Given the description of an element on the screen output the (x, y) to click on. 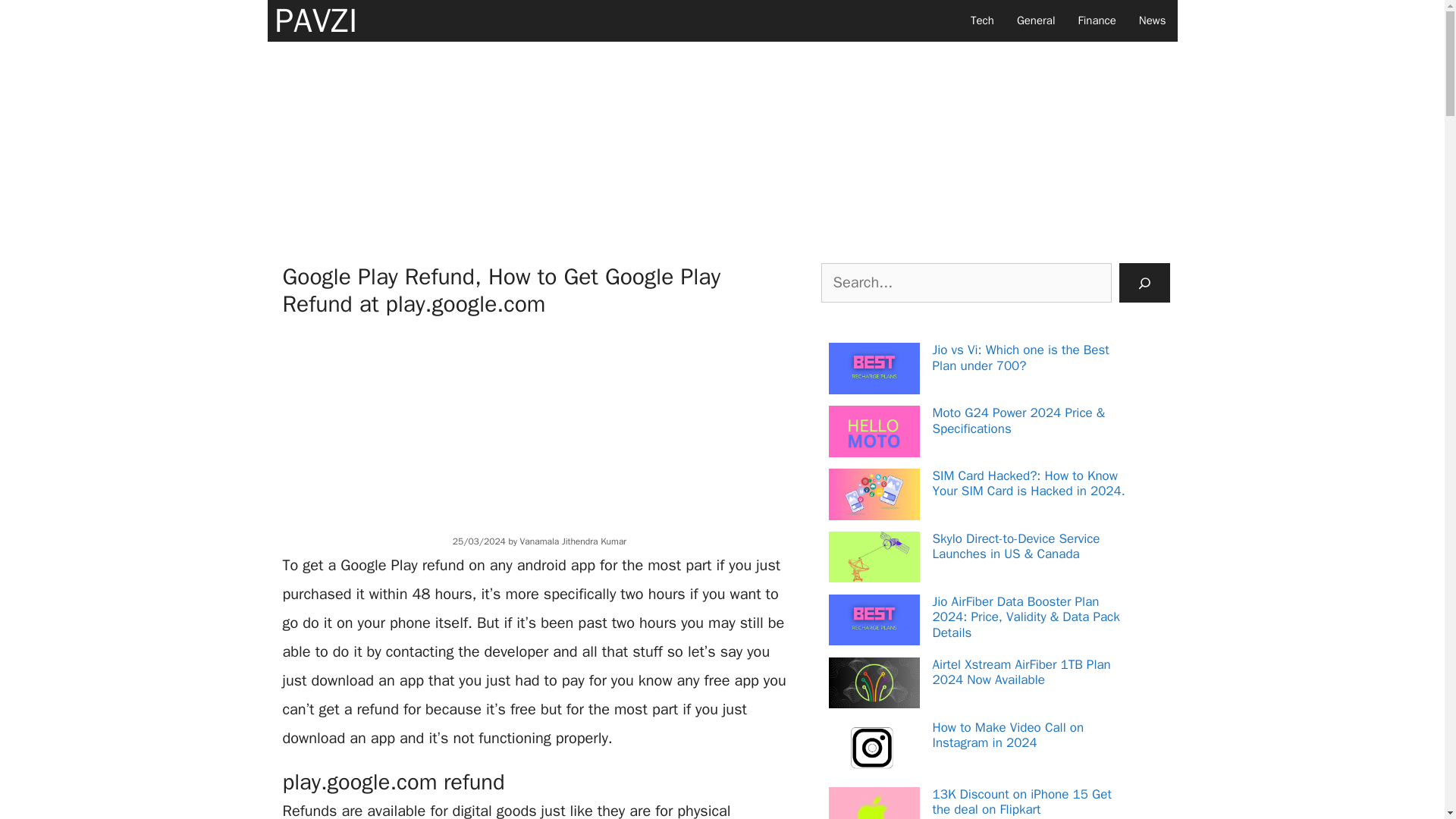
Vanamala Jithendra Kumar (573, 541)
Jio vs Vi: Which one is the Best Plan under 700? (1021, 357)
PAVZI (315, 20)
Finance (1096, 20)
Advertisement (539, 423)
News (1151, 20)
Tech (982, 20)
General (1036, 20)
View all posts by Vanamala Jithendra Kumar (573, 541)
